Given the description of an element on the screen output the (x, y) to click on. 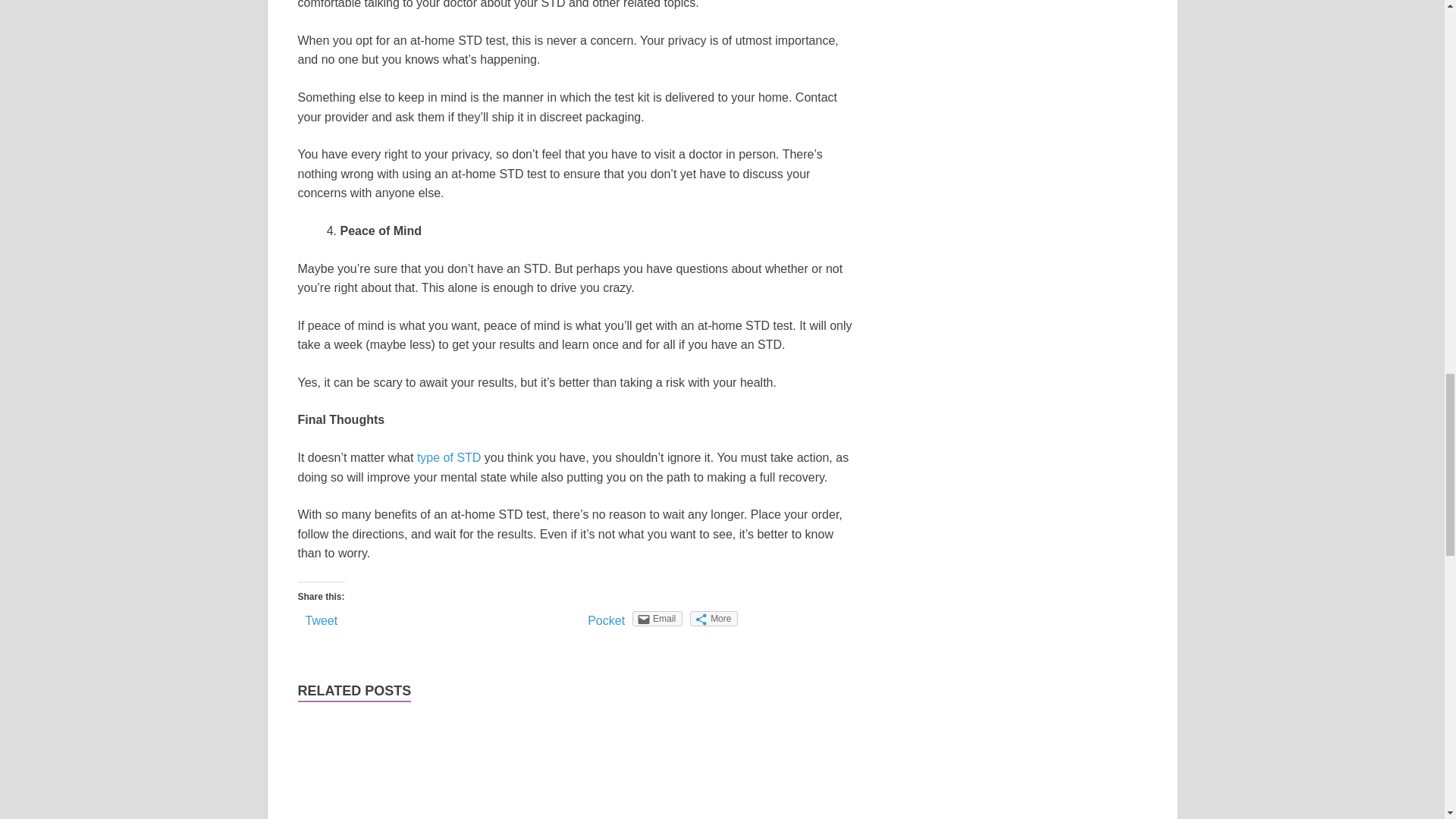
More (714, 618)
Tweet (320, 620)
Pocket (606, 620)
type of STD (448, 457)
Click to email a link to a friend (656, 618)
Email (656, 618)
